Given the description of an element on the screen output the (x, y) to click on. 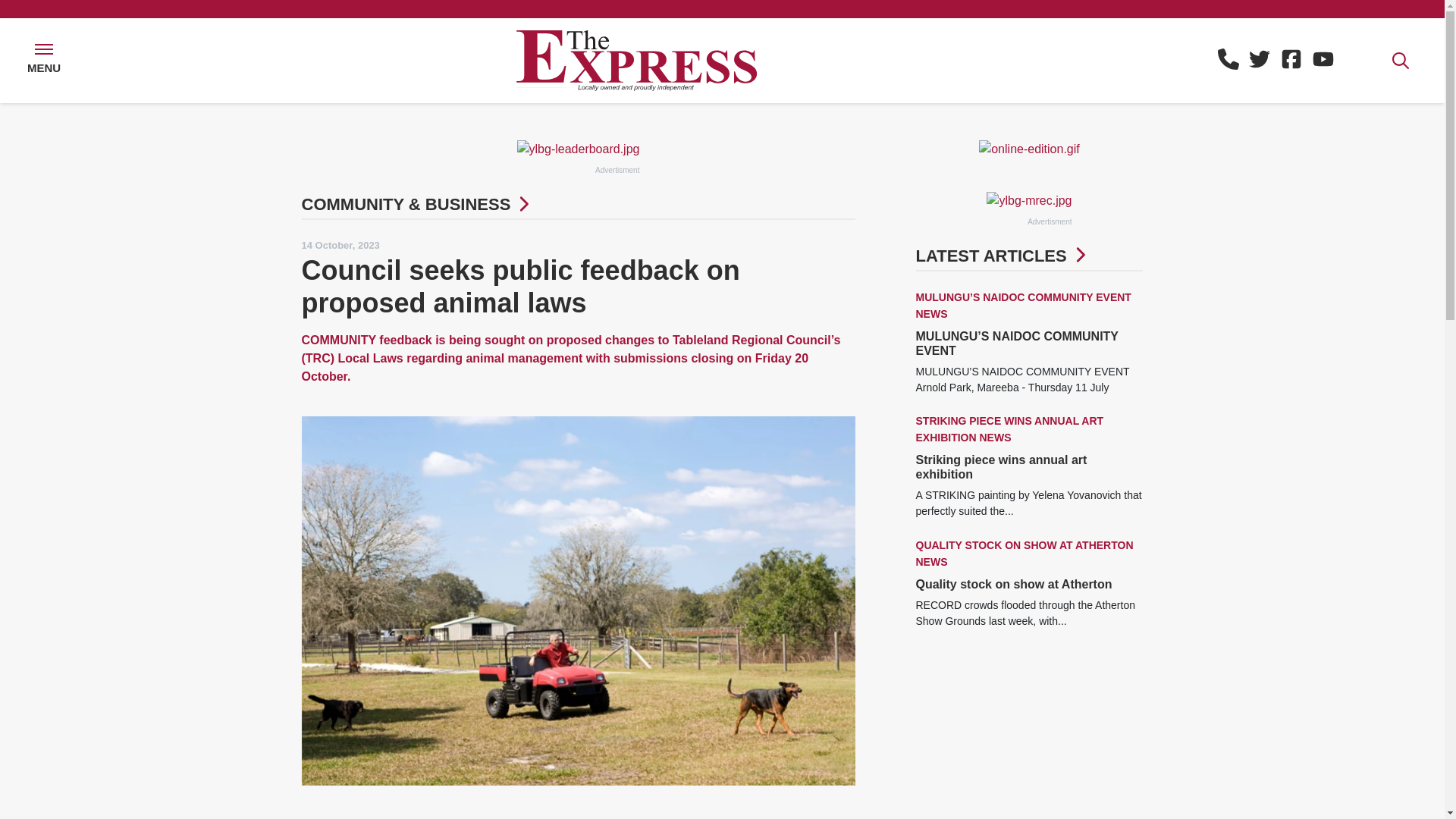
Striking piece wins annual art exhibition (1001, 466)
MENU (43, 60)
STRIKING PIECE WINS ANNUAL ART EXHIBITION NEWS (1009, 428)
